Given the description of an element on the screen output the (x, y) to click on. 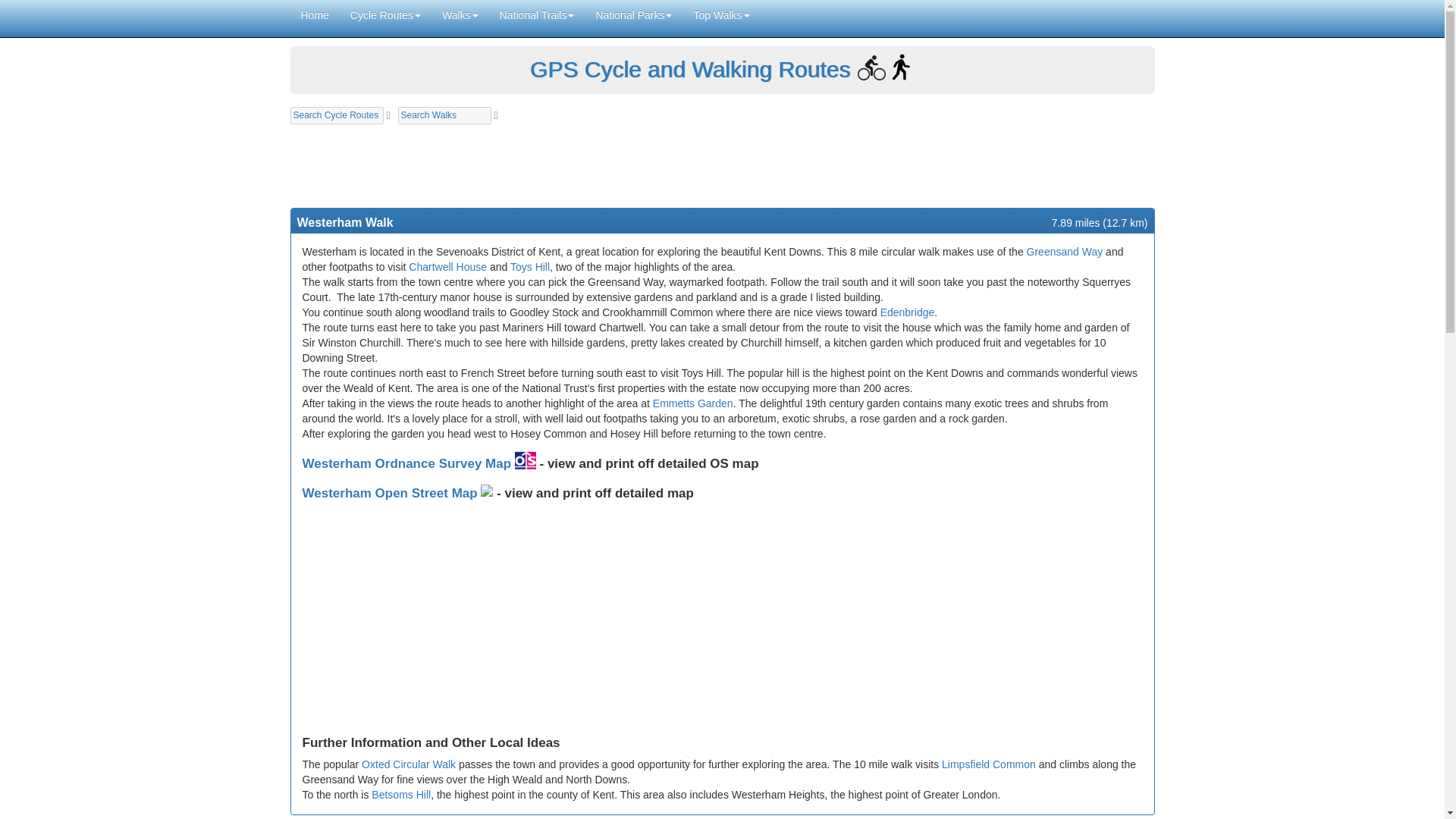
Walks (459, 15)
Home (314, 15)
National Trails (537, 15)
Cycle Routes (384, 15)
